Given the description of an element on the screen output the (x, y) to click on. 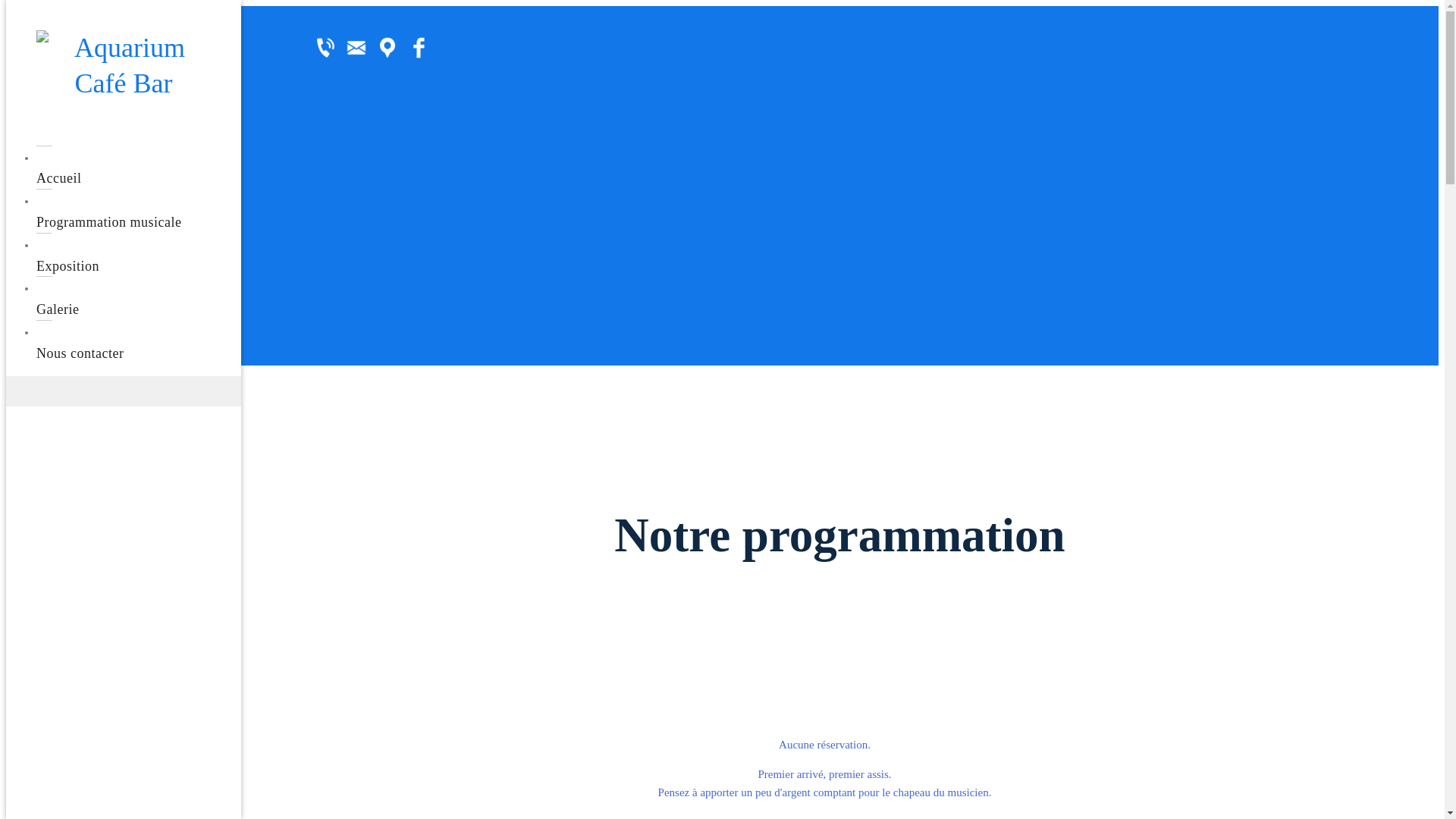
Accueil Element type: text (138, 167)
Galerie Element type: text (138, 298)
Facebook Element type: hover (417, 47)
Exposition Element type: text (138, 254)
Programmation musicale Element type: text (138, 210)
Nous contacter Element type: text (138, 342)
Adresse Element type: hover (386, 47)
Courriel Element type: hover (355, 47)
